Given the description of an element on the screen output the (x, y) to click on. 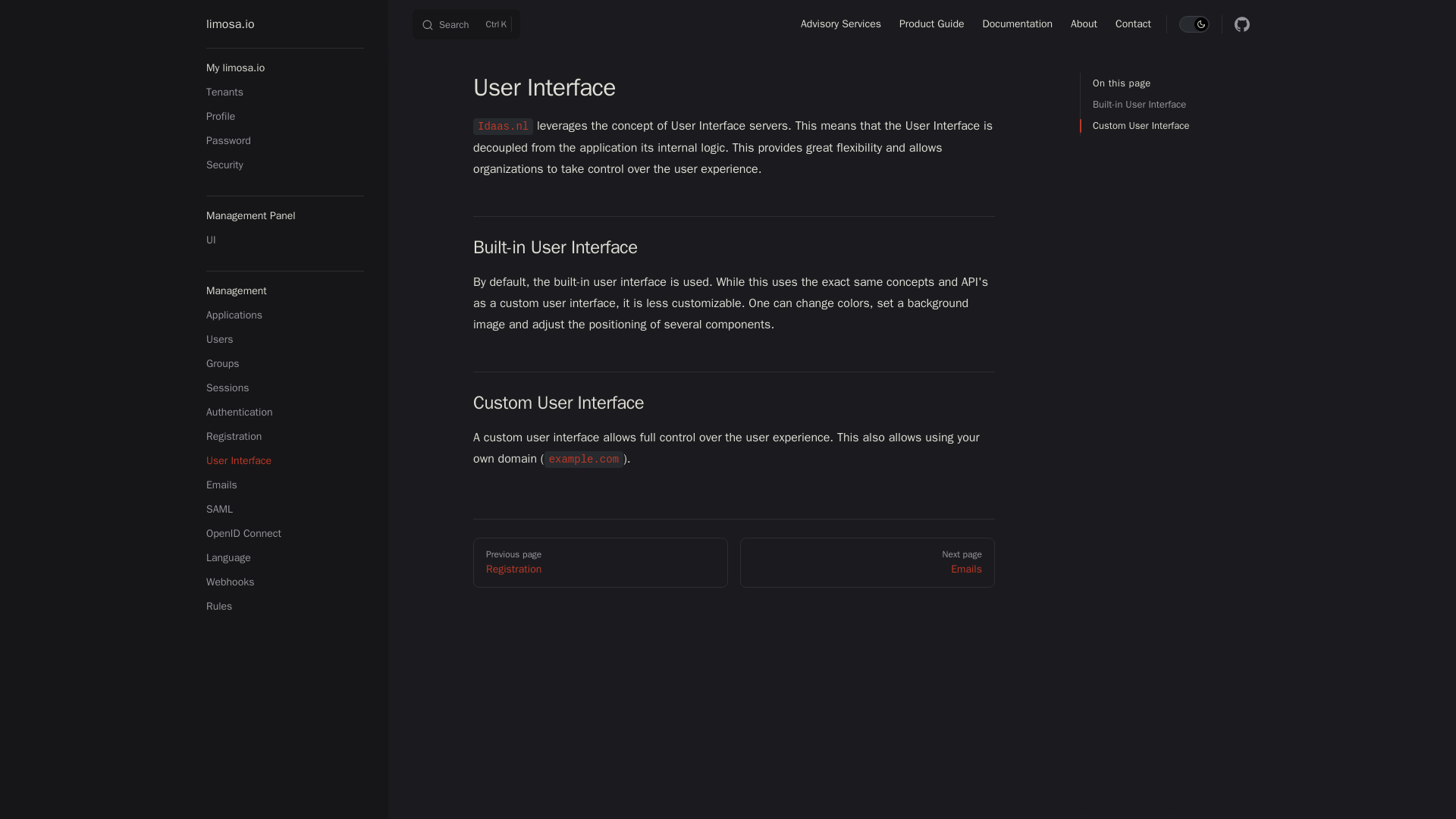
toggle dark mode (1194, 23)
Tenants (285, 92)
Rules (465, 24)
Webhooks (285, 606)
Language (285, 582)
UI (285, 558)
Management (285, 240)
Advisory Services (285, 291)
limosa.io (840, 24)
Profile (285, 24)
Contact (285, 116)
Security (1133, 24)
Documentation (285, 165)
My limosa.io (1018, 24)
